Given the description of an element on the screen output the (x, y) to click on. 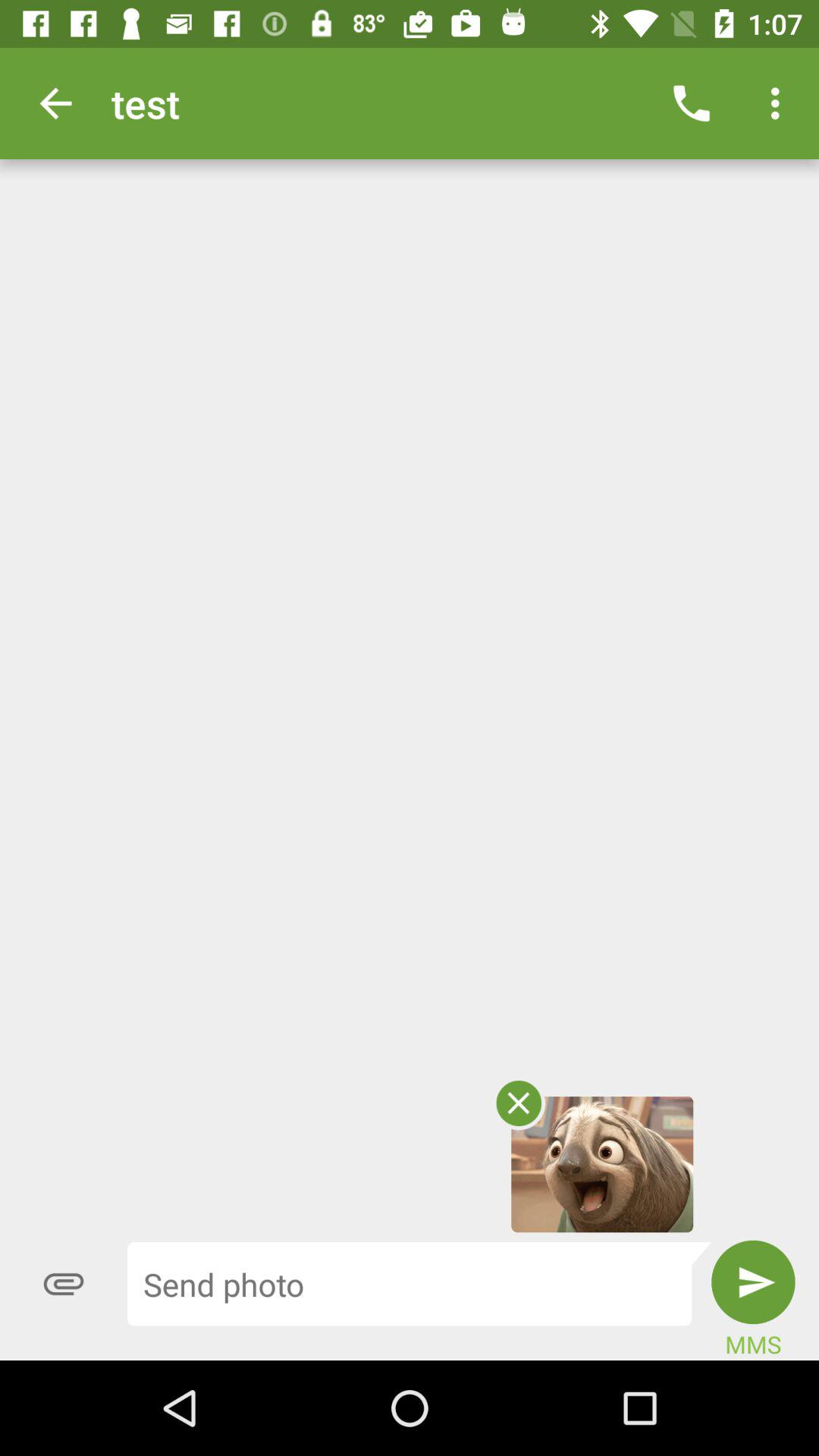
launch item above mms icon (753, 1282)
